Given the description of an element on the screen output the (x, y) to click on. 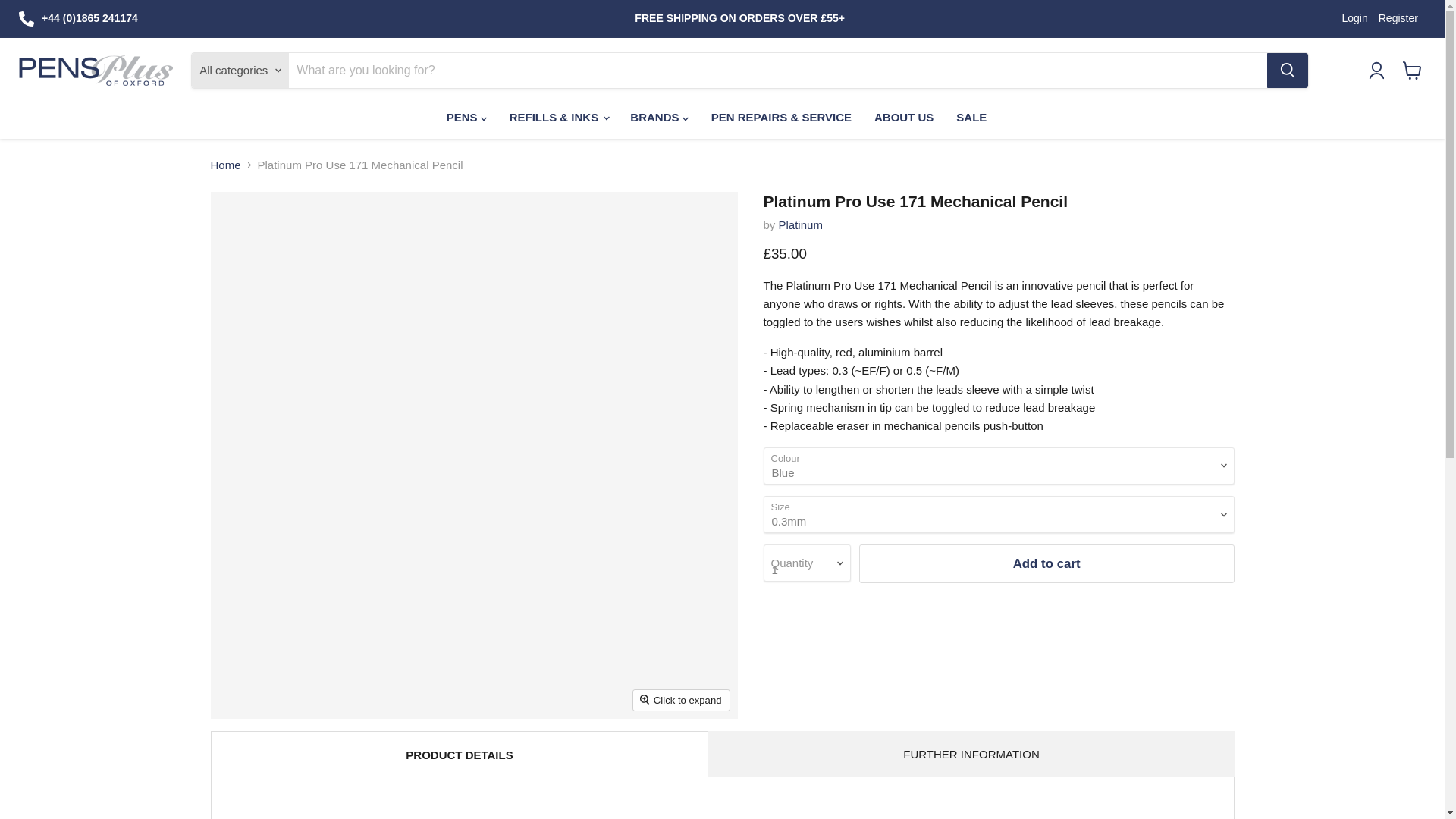
Register (1398, 18)
Login (1353, 18)
Platinum (800, 224)
View cart (1411, 70)
